Given the description of an element on the screen output the (x, y) to click on. 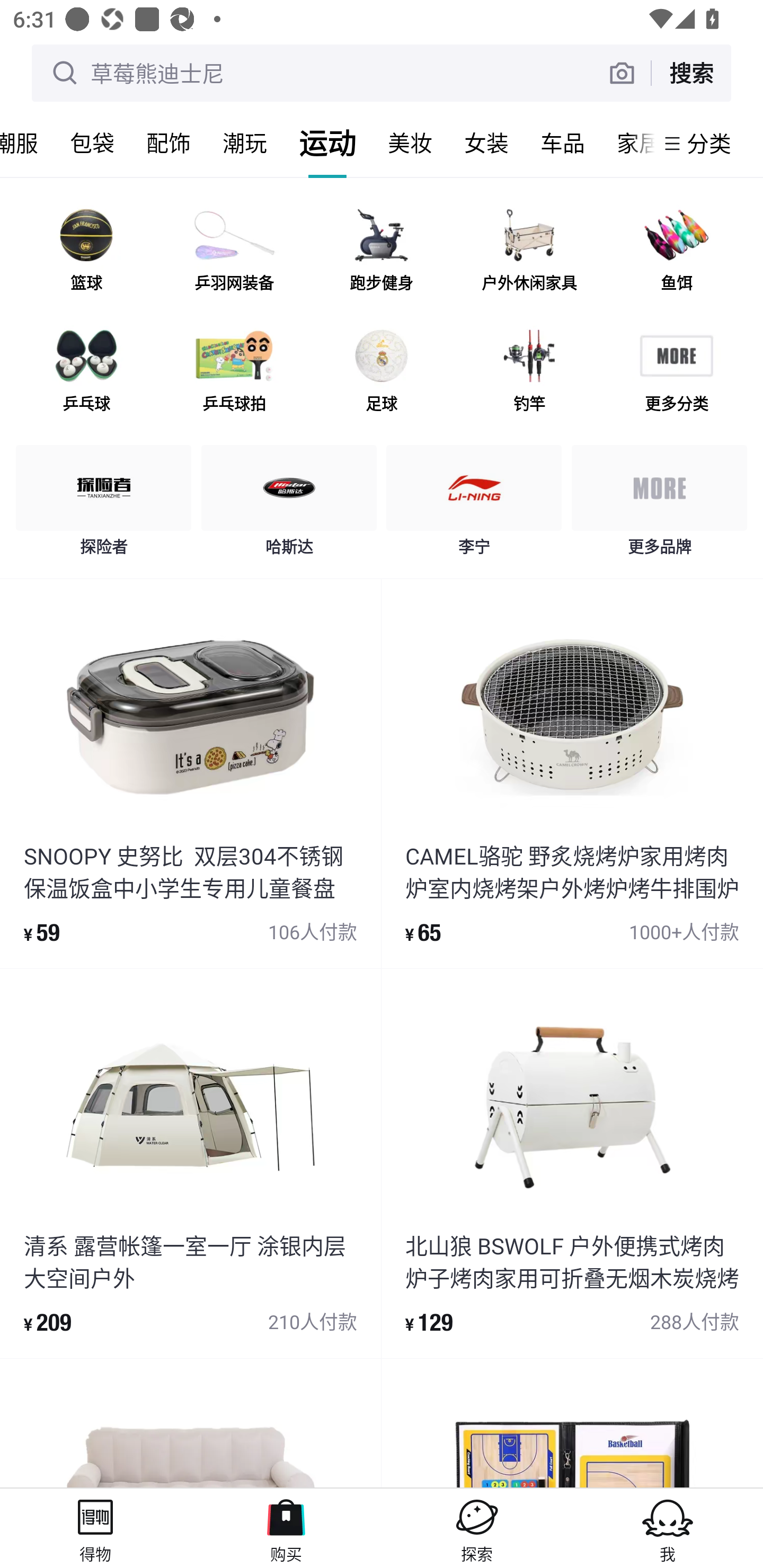
搜索 (690, 72)
潮服 (27, 143)
包袋 (92, 143)
配饰 (168, 143)
潮玩 (244, 143)
运动 (327, 143)
美妆 (410, 143)
女装 (486, 143)
车品 (562, 143)
家居 (627, 143)
分类 (708, 143)
篮球 (86, 251)
乒羽网装备 (233, 251)
跑步健身 (381, 251)
户外休闲家具 (528, 251)
鱼饵 (676, 251)
乒乓球 (86, 372)
乒乓球拍 (233, 372)
足球 (381, 372)
钓竿 (528, 372)
更多分类 (676, 372)
探险者 (103, 505)
哈斯达 (288, 505)
李宁 (473, 505)
更多品牌 (658, 505)
product_item 清系 露营帐篷一室一厅 涂银内层
大空间户外 ¥ 209 210人付款 (190, 1163)
得物 (95, 1528)
购买 (285, 1528)
探索 (476, 1528)
我 (667, 1528)
